Given the description of an element on the screen output the (x, y) to click on. 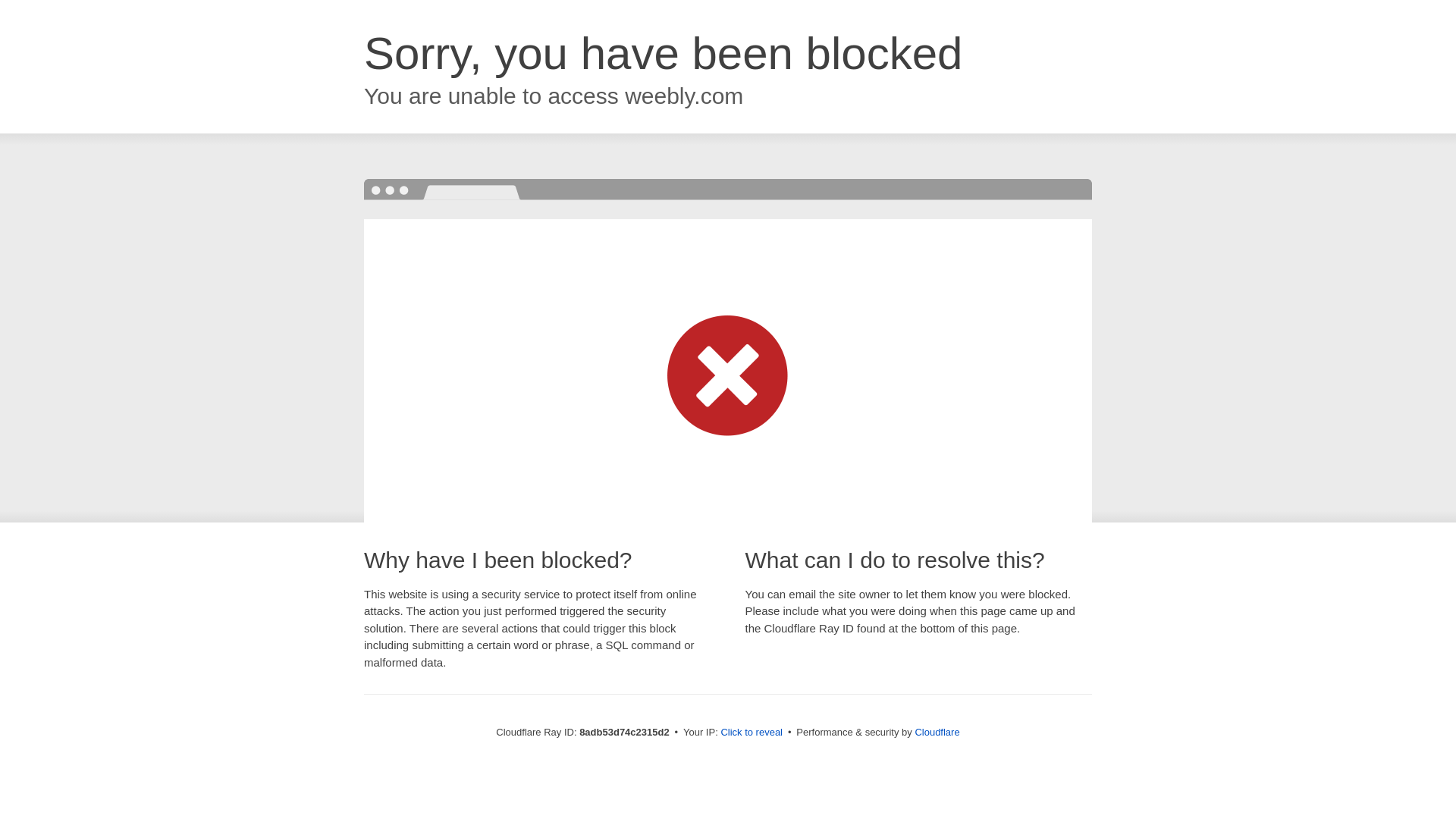
Click to reveal (751, 732)
Cloudflare (936, 731)
